Given the description of an element on the screen output the (x, y) to click on. 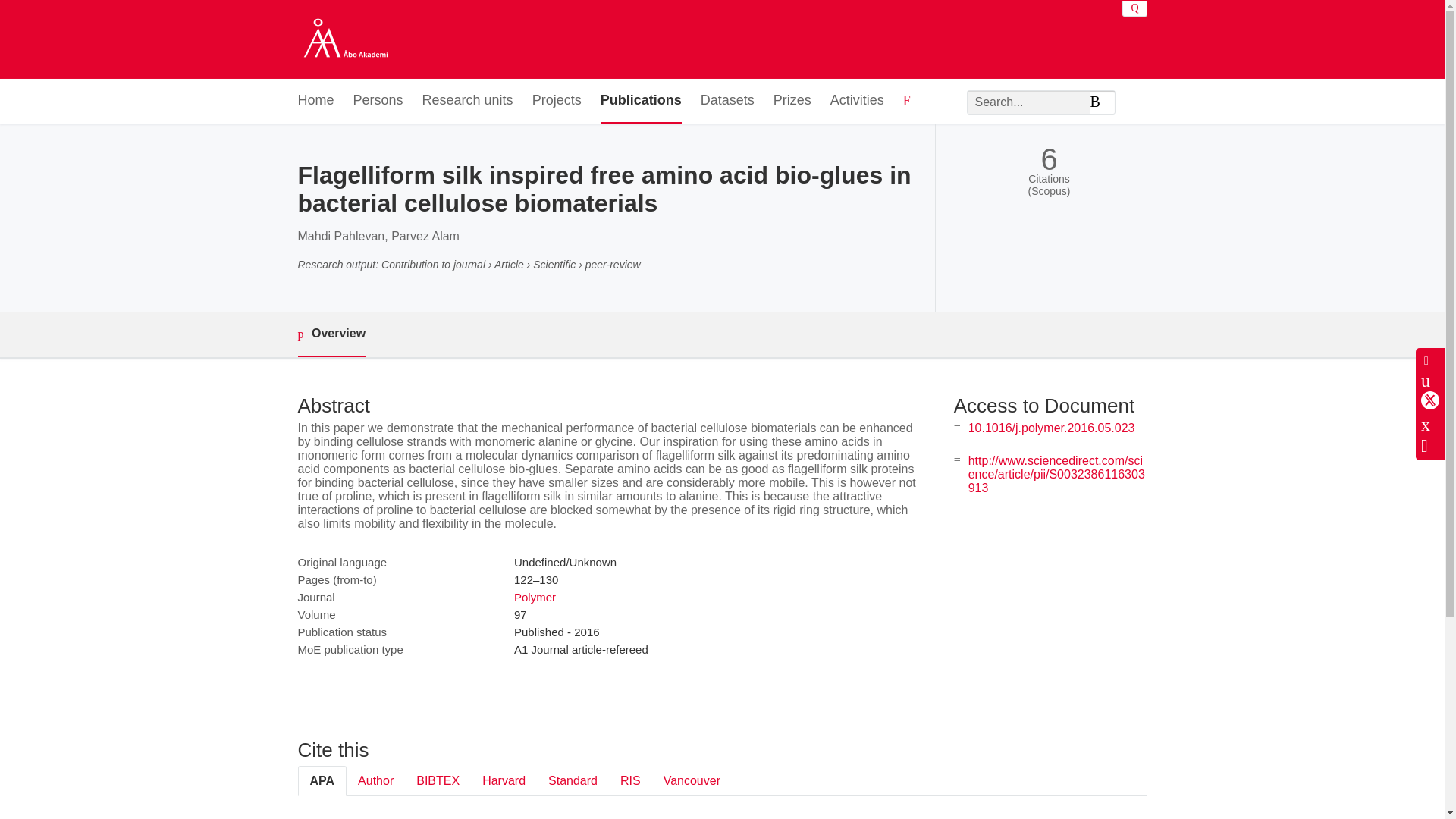
Datasets (727, 100)
Projects (556, 100)
Persons (378, 100)
Overview (331, 334)
Activities (856, 100)
Polymer (534, 596)
Publications (640, 100)
Research units (467, 100)
